Given the description of an element on the screen output the (x, y) to click on. 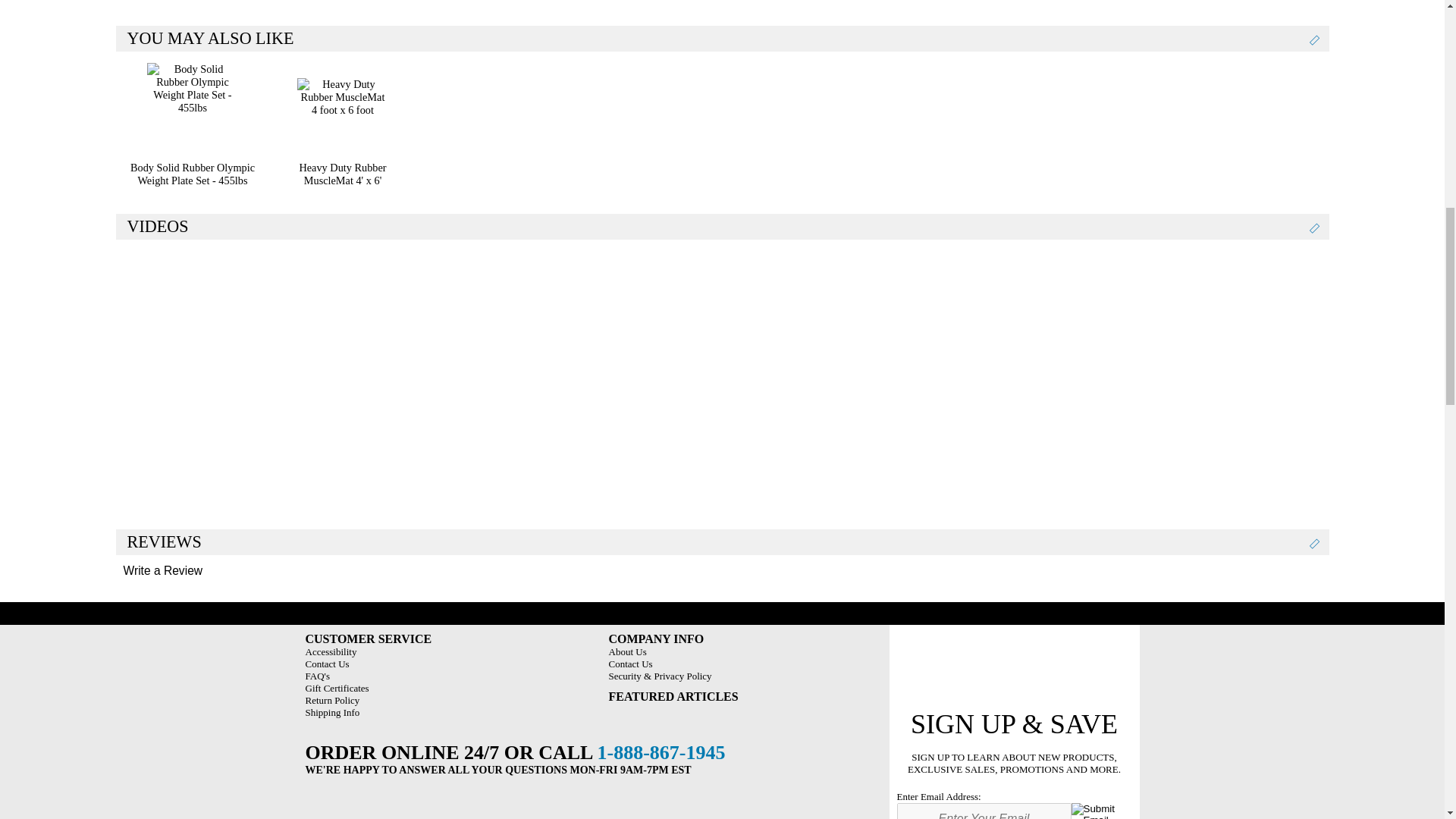
Heavy Duty Rubber MuscleMat 4 foot x 6 foot (342, 174)
Body Solid Rubber Olympic Weight Plate Set - 455lbs (192, 108)
Body Solid LVLP Leverage Horizontal Leg Press (312, 366)
Heavy Duty Rubber MuscleMat 4 foot x 6 foot (342, 108)
Body Solid Rubber Olympic Weight Plate Set - 455lbs (192, 174)
